Given the description of an element on the screen output the (x, y) to click on. 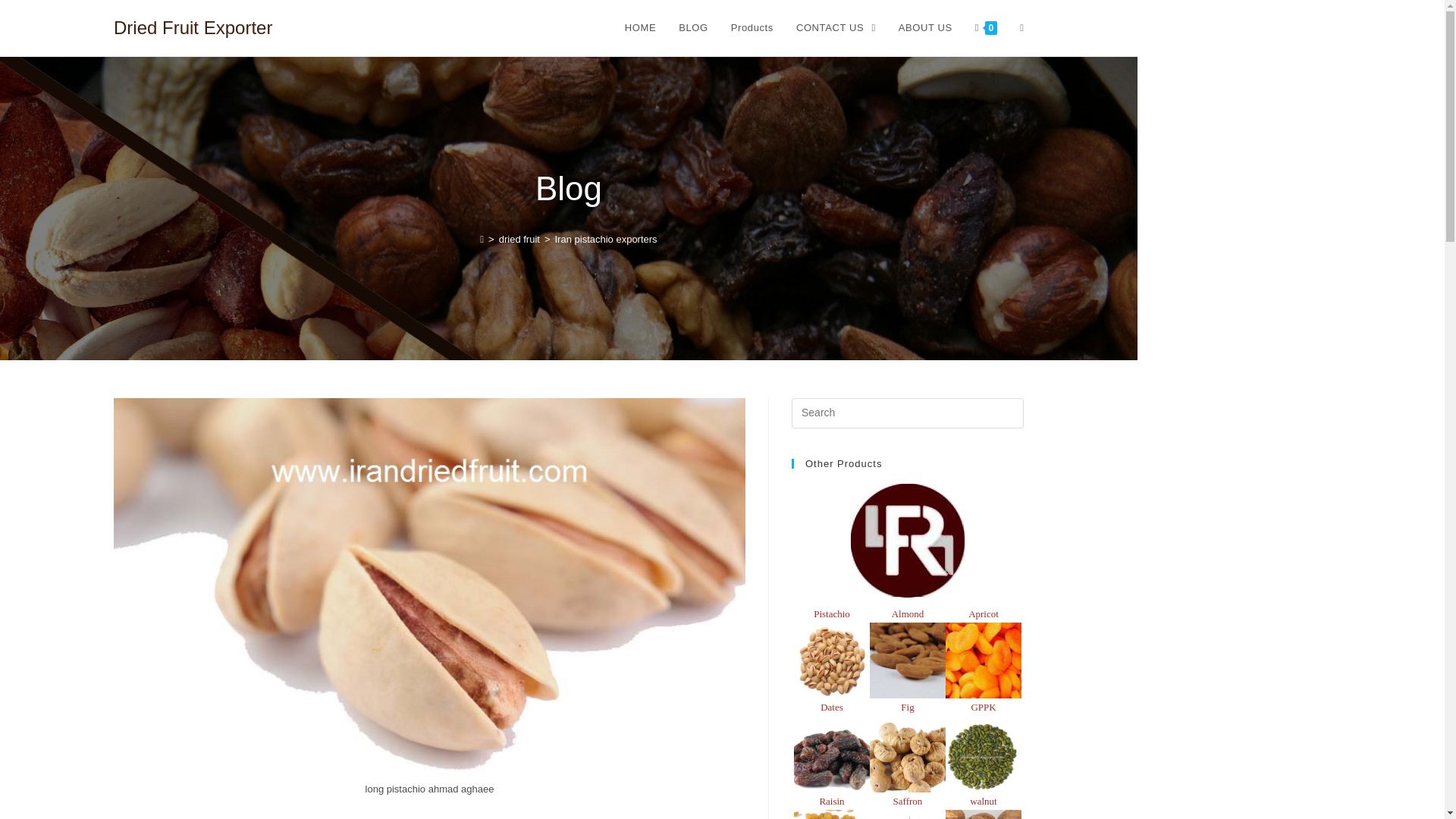
HOME (639, 28)
BLOG (692, 28)
Iran pistachio exporters (606, 238)
dried fruit (519, 238)
CONTACT US (835, 28)
0 (986, 28)
ABOUT US (924, 28)
Dried Fruit Exporter (192, 27)
Products (751, 28)
